Given the description of an element on the screen output the (x, y) to click on. 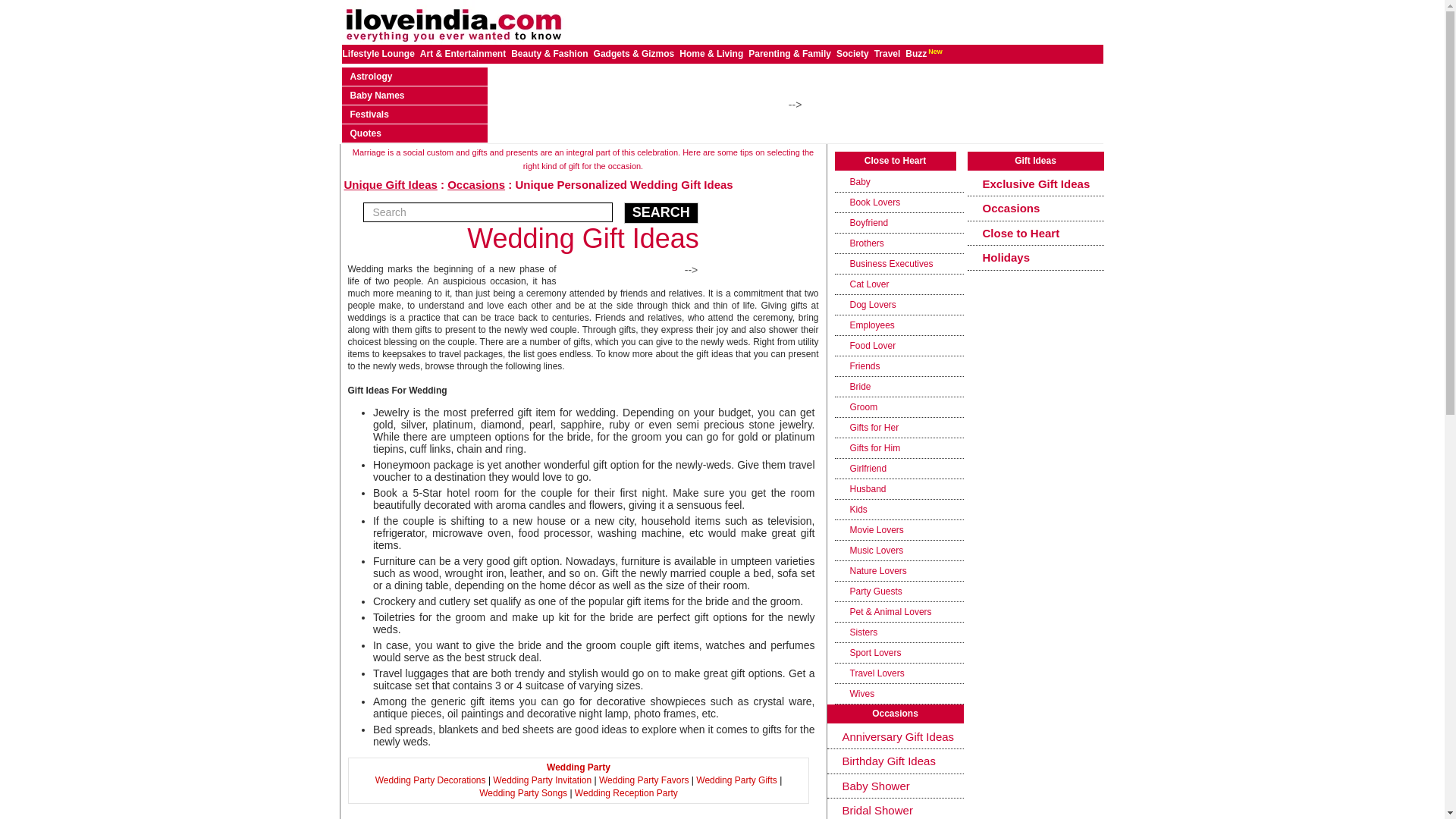
Occasions (475, 184)
Astrology (371, 76)
Festivals (369, 113)
Lifestyle Lounge (379, 53)
Wedding Party Favors (643, 779)
Wedding Party (578, 767)
Baby Names (377, 95)
SEARCH (661, 212)
Quotes (365, 132)
Wedding Party Invitation (542, 779)
Unique Gift Ideas (390, 184)
Wedding Party Decorations (430, 779)
